Given the description of an element on the screen output the (x, y) to click on. 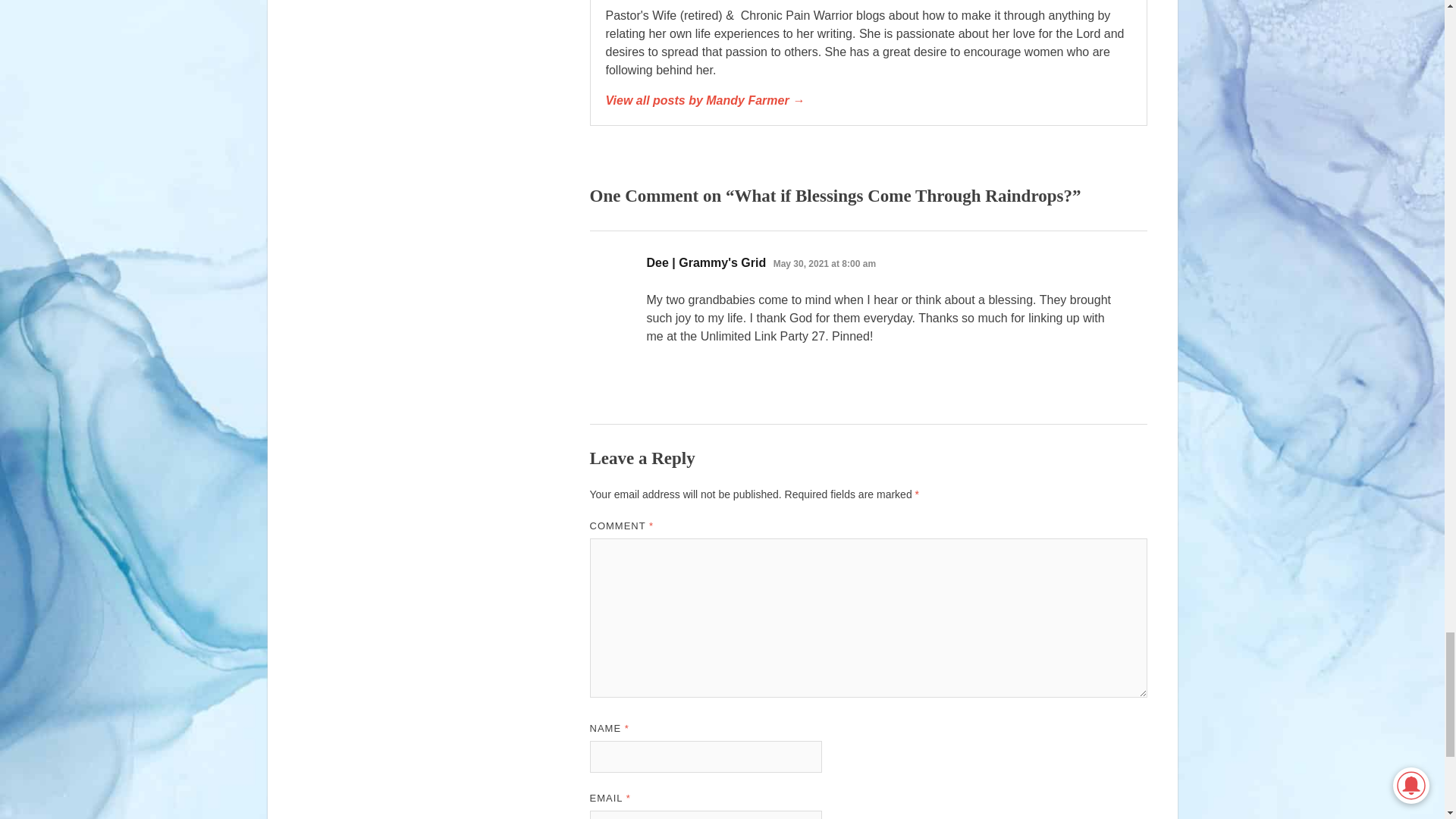
Mandy Farmer (868, 100)
